Given the description of an element on the screen output the (x, y) to click on. 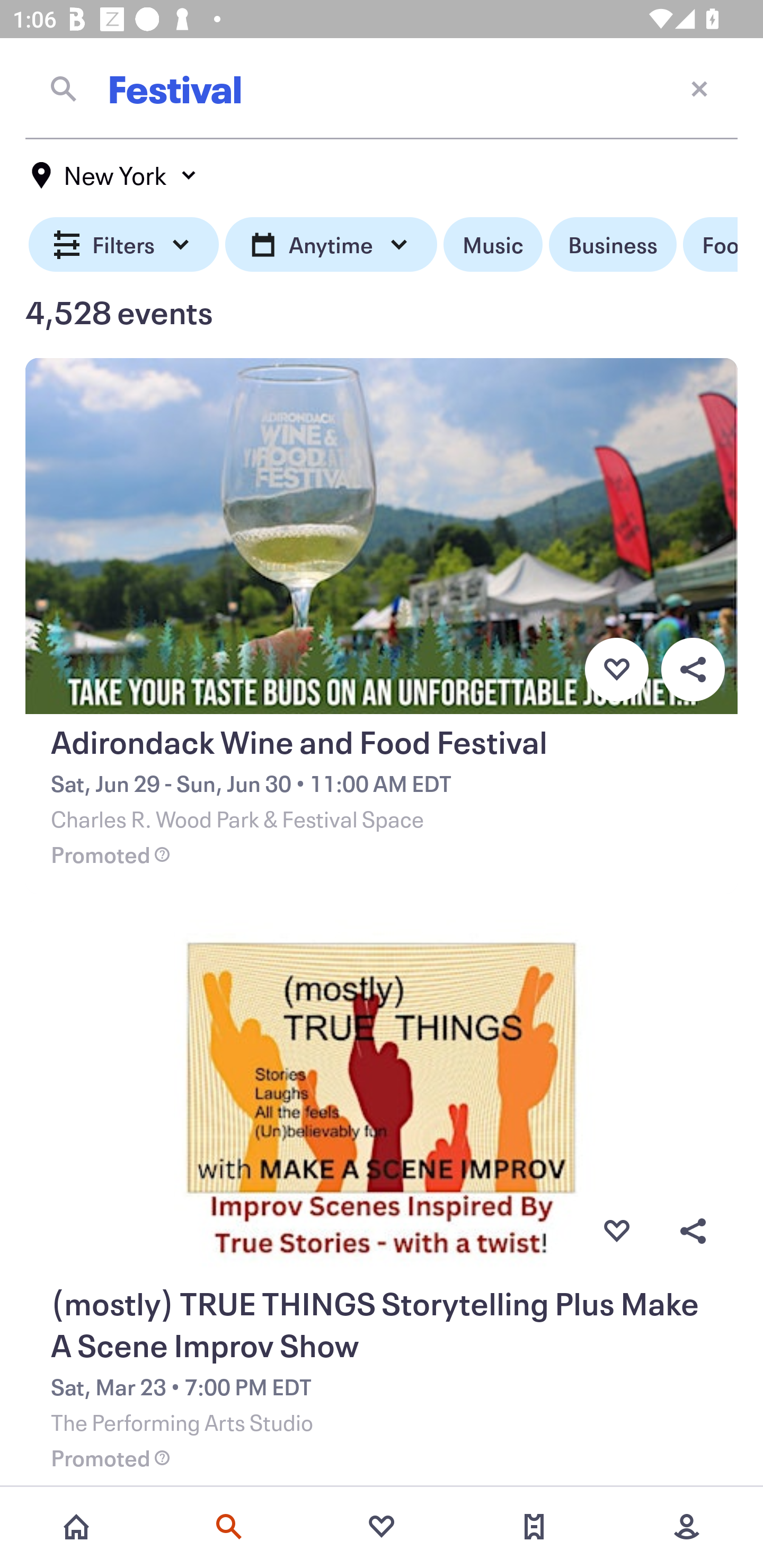
Festival Close current screen (381, 88)
Close current screen (699, 88)
New York (114, 175)
Filters (123, 244)
Anytime (331, 244)
Music (492, 244)
Business (612, 244)
Favorite button (616, 669)
Overflow menu button (692, 669)
Favorite button (616, 1230)
Overflow menu button (692, 1230)
Home (76, 1526)
Search events (228, 1526)
Favorites (381, 1526)
Tickets (533, 1526)
More (686, 1526)
